Given the description of an element on the screen output the (x, y) to click on. 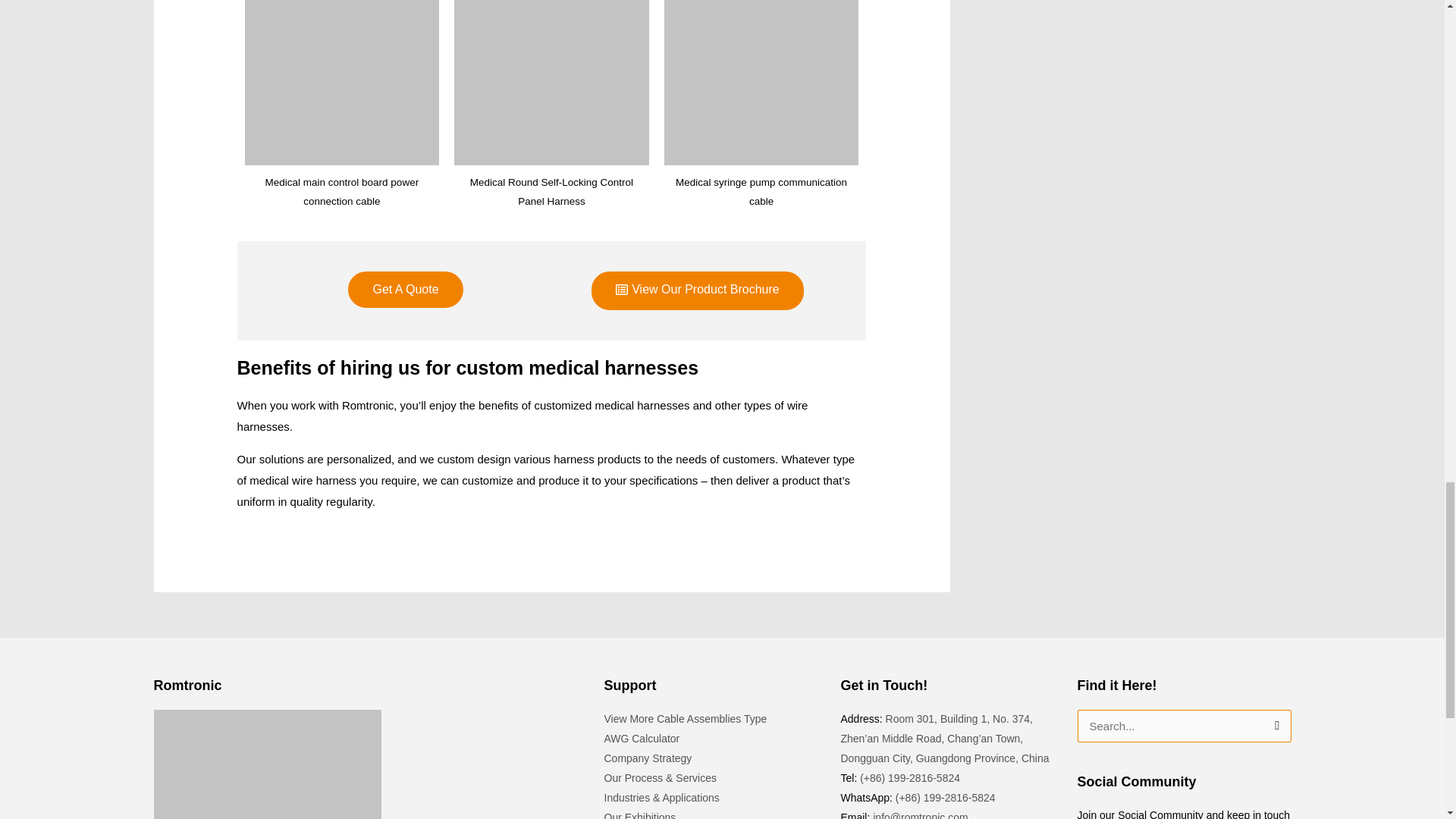
Search (1274, 726)
Search (1274, 726)
